Given the description of an element on the screen output the (x, y) to click on. 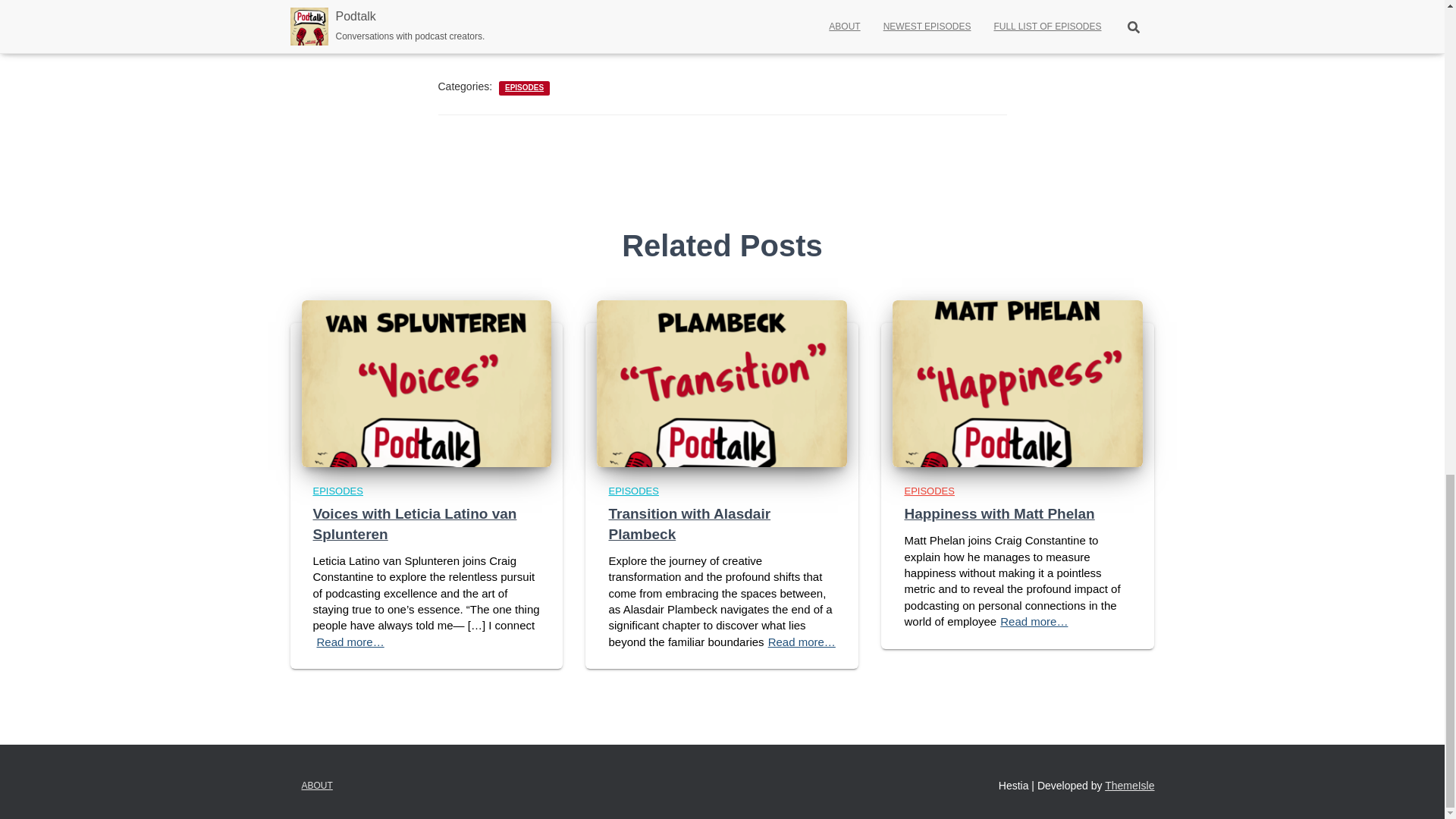
Voices with Leticia Latino van Splunteren (414, 524)
EPISODES (337, 490)
EPISODES (523, 87)
